Given the description of an element on the screen output the (x, y) to click on. 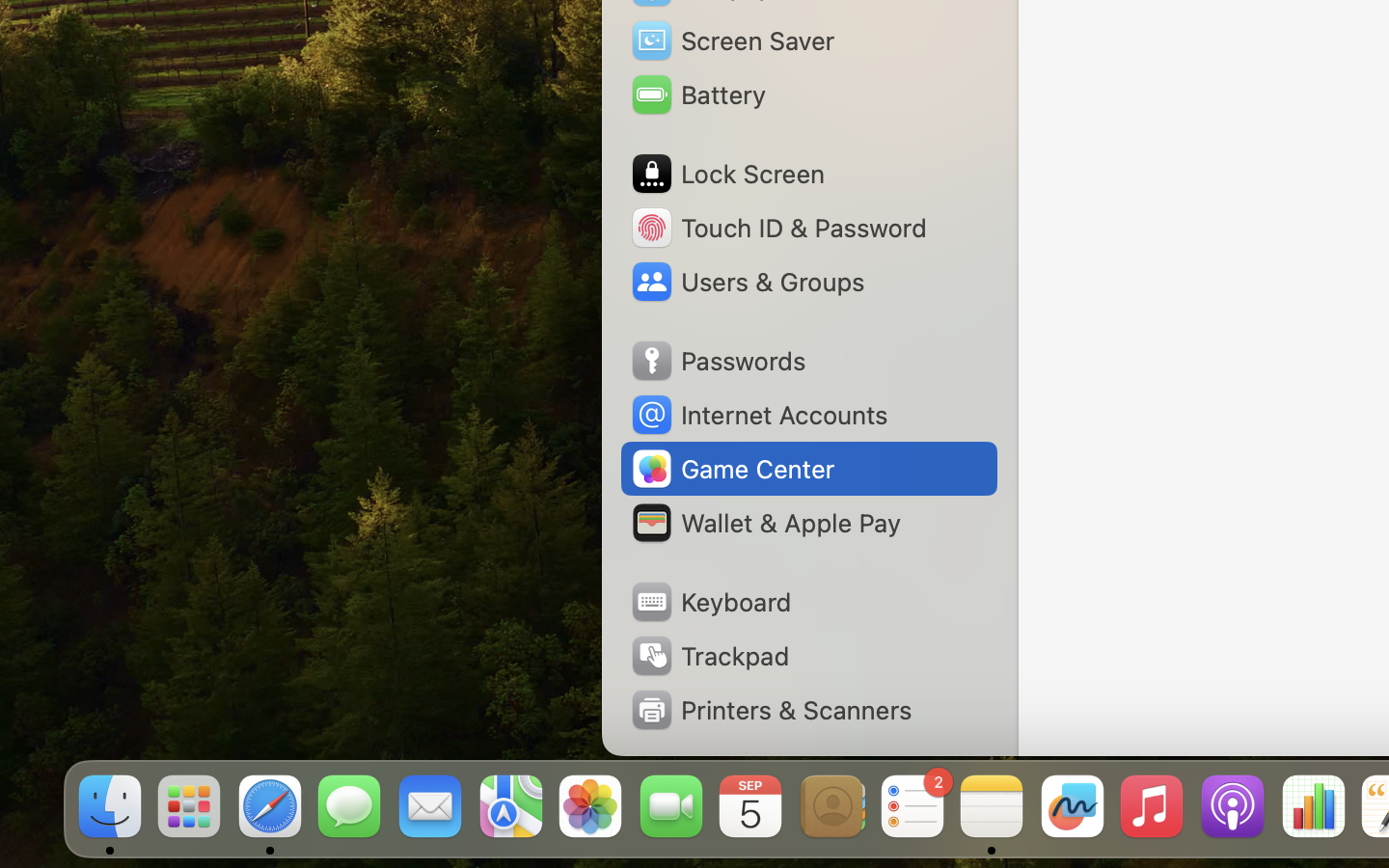
Internet Accounts Element type: AXStaticText (757, 414)
Printers & Scanners Element type: AXStaticText (770, 709)
Users & Groups Element type: AXStaticText (746, 281)
Wallet & Apple Pay Element type: AXStaticText (764, 522)
Screen Saver Element type: AXStaticText (731, 40)
